Given the description of an element on the screen output the (x, y) to click on. 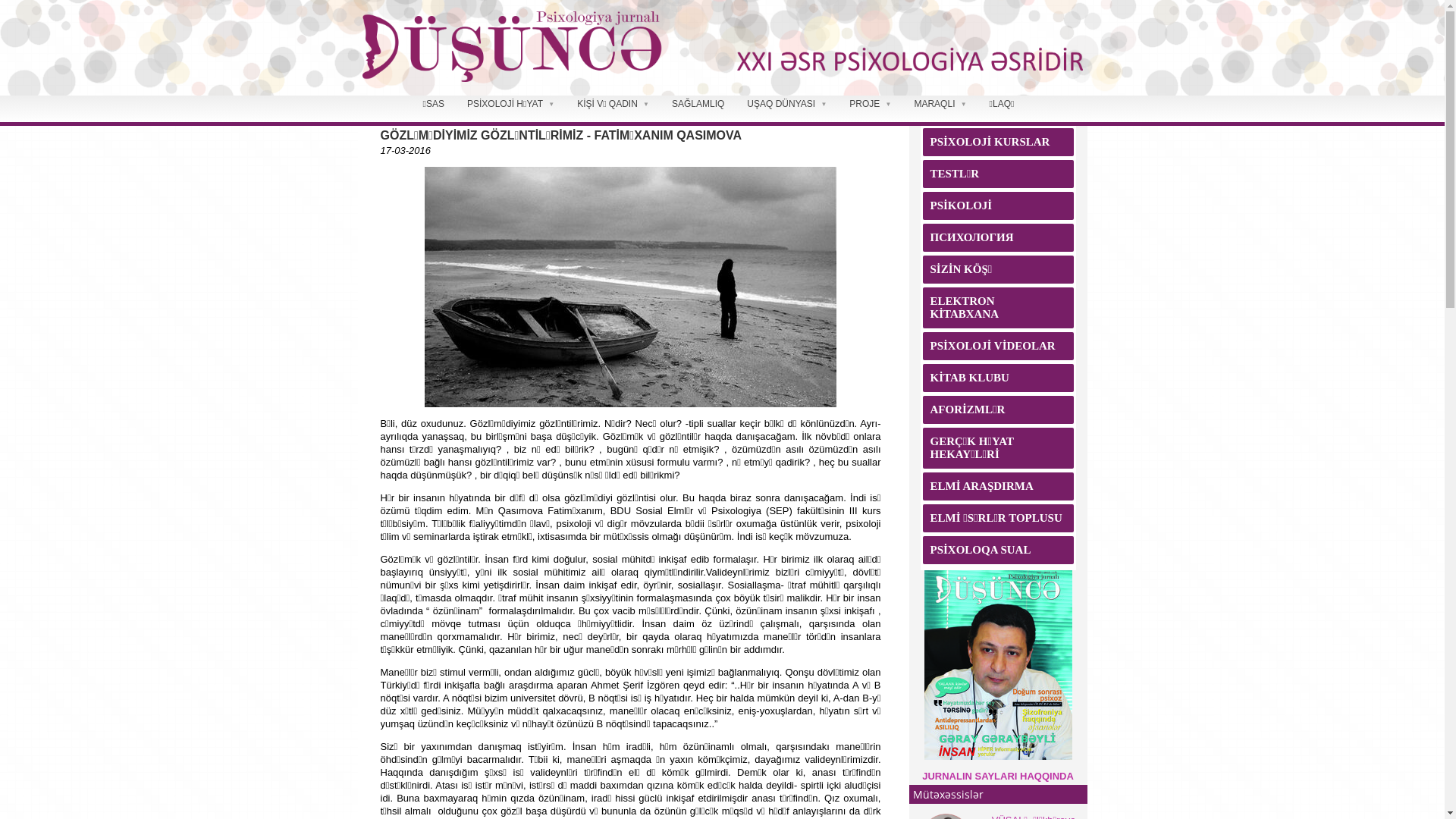
JURNALIN SAYLARI HAQQINDA Element type: text (997, 775)
